Given the description of an element on the screen output the (x, y) to click on. 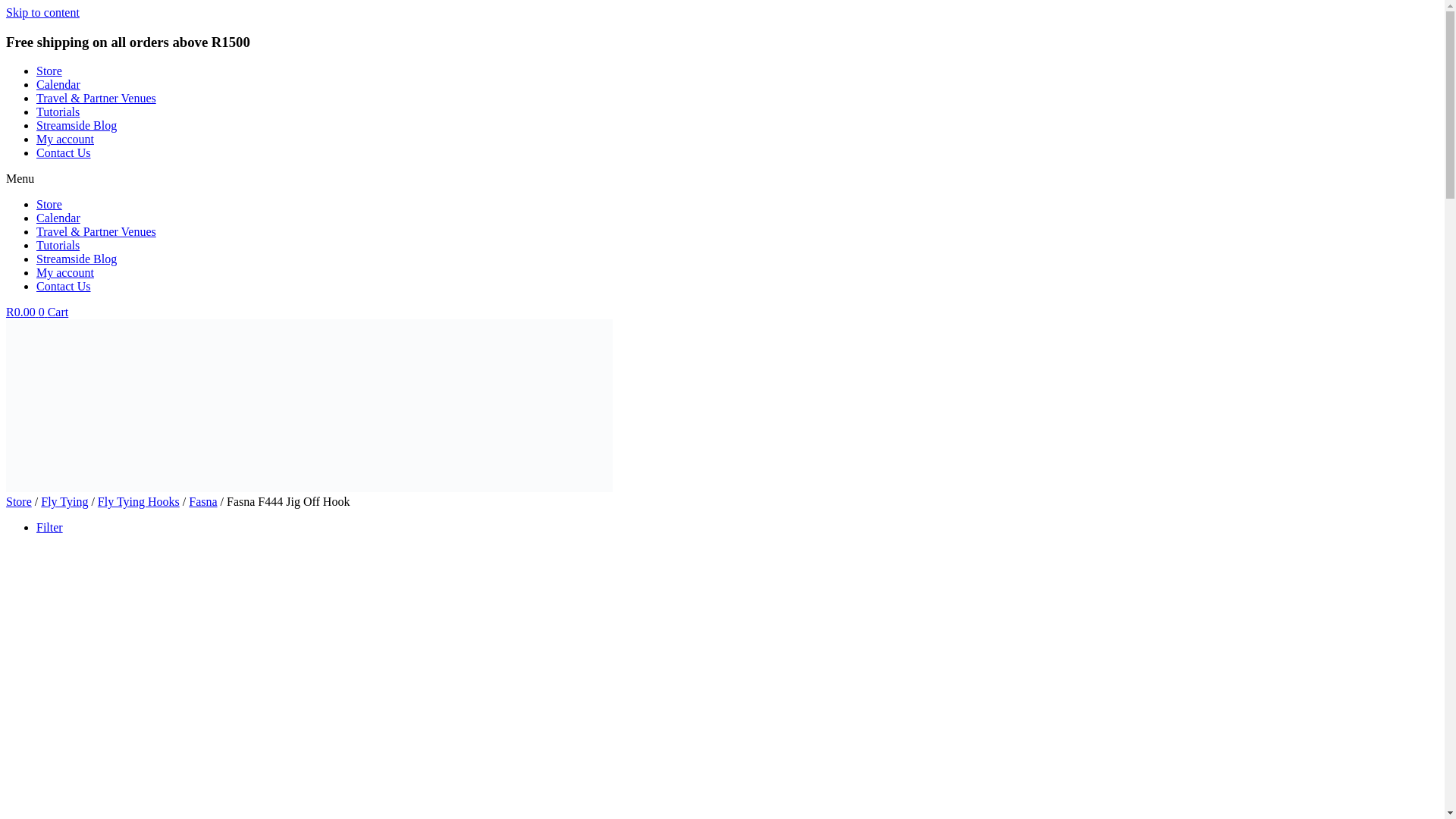
Fasna (202, 501)
Streamside Blog (76, 258)
Store (49, 70)
Store (49, 204)
Tutorials (58, 245)
Contact Us (63, 286)
Store (18, 501)
My account (65, 138)
Tutorials (58, 111)
Contact Us (63, 152)
